Given the description of an element on the screen output the (x, y) to click on. 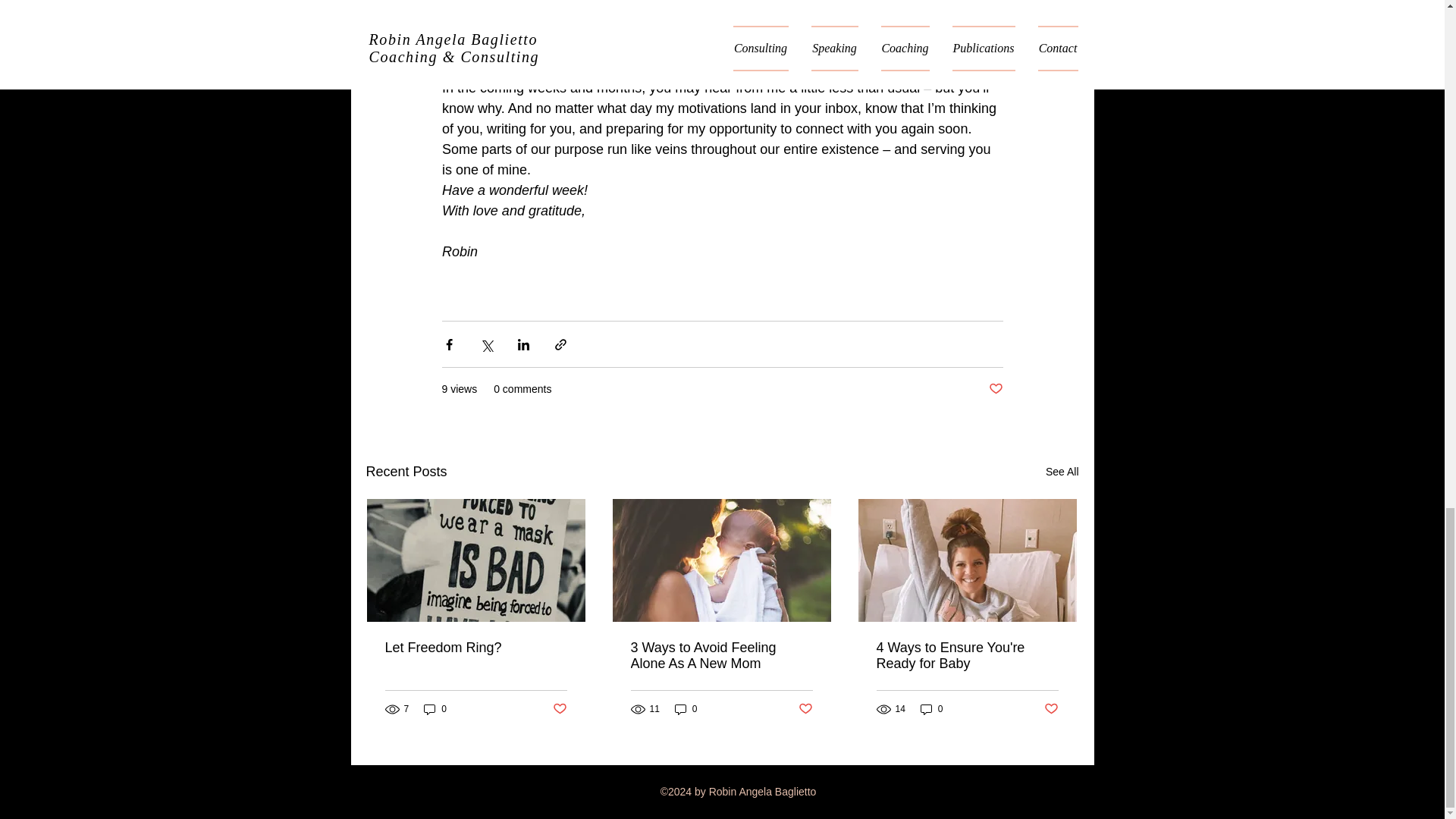
See All (1061, 472)
3 Ways to Avoid Feeling Alone As A New Mom (721, 655)
0 (931, 708)
Let Freedom Ring? (476, 647)
Post not marked as liked (804, 708)
Post not marked as liked (558, 708)
4 Ways to Ensure You're Ready for Baby (967, 655)
Post not marked as liked (1050, 708)
Post not marked as liked (995, 389)
0 (685, 708)
